Given the description of an element on the screen output the (x, y) to click on. 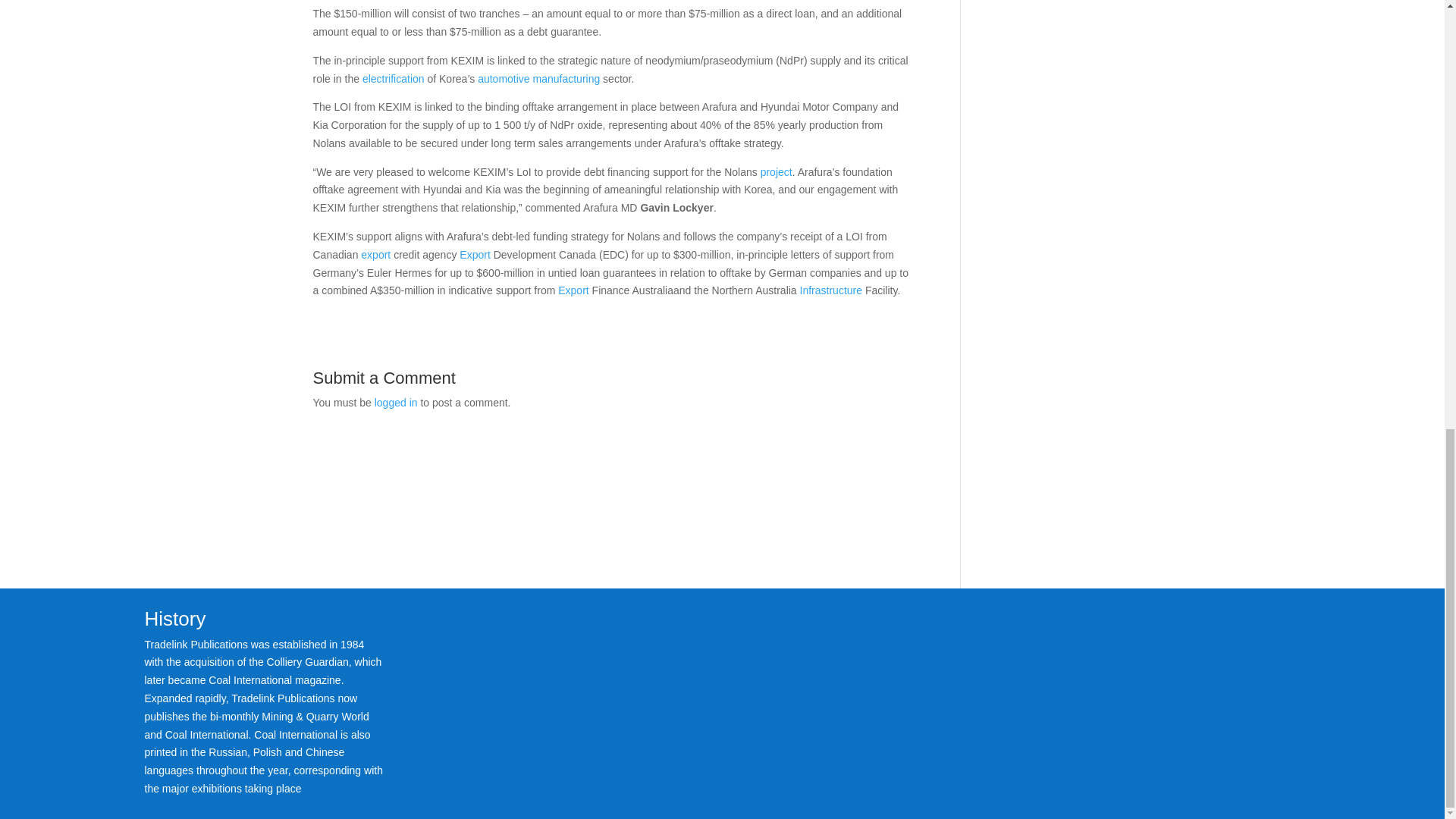
export (375, 254)
project (776, 172)
manufacturing (565, 78)
electrification (393, 78)
Export (572, 290)
logged in (395, 402)
automotive (503, 78)
Infrastructure (830, 290)
Export (474, 254)
